Given the description of an element on the screen output the (x, y) to click on. 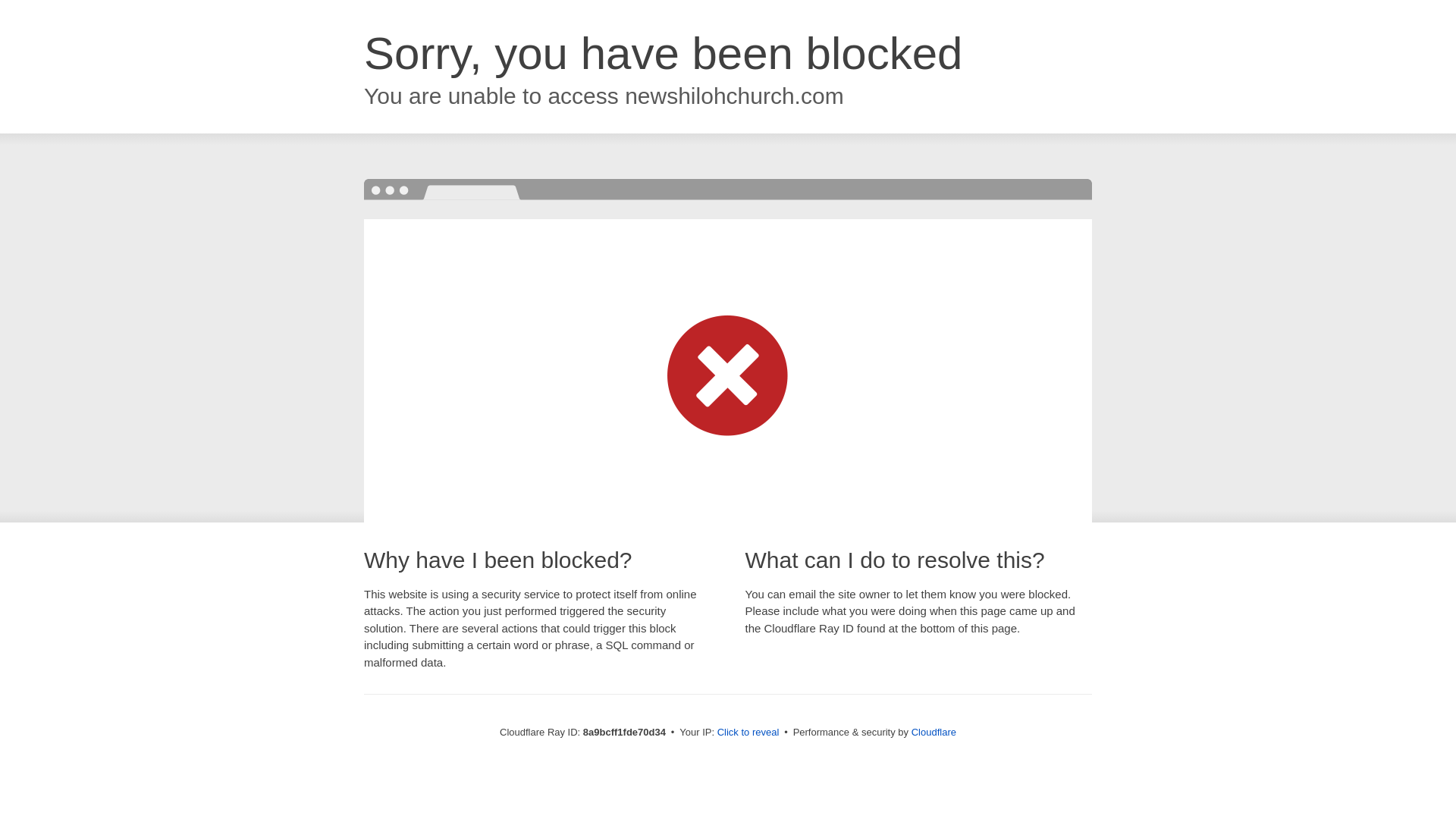
Click to reveal (747, 732)
Cloudflare (933, 731)
